Given the description of an element on the screen output the (x, y) to click on. 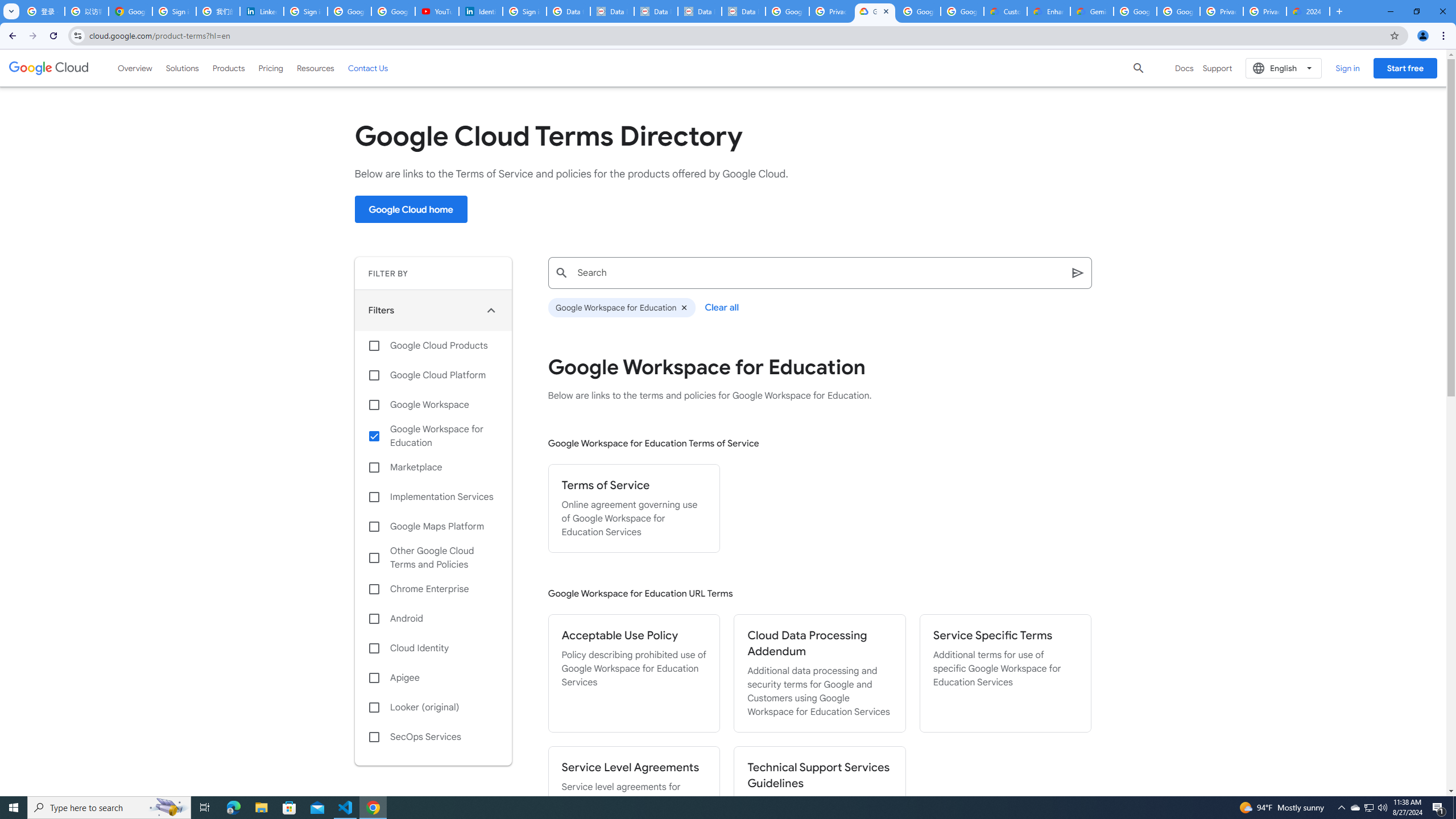
Clear all (721, 307)
Google Maps Platform (432, 526)
Marketplace (432, 467)
